Given the description of an element on the screen output the (x, y) to click on. 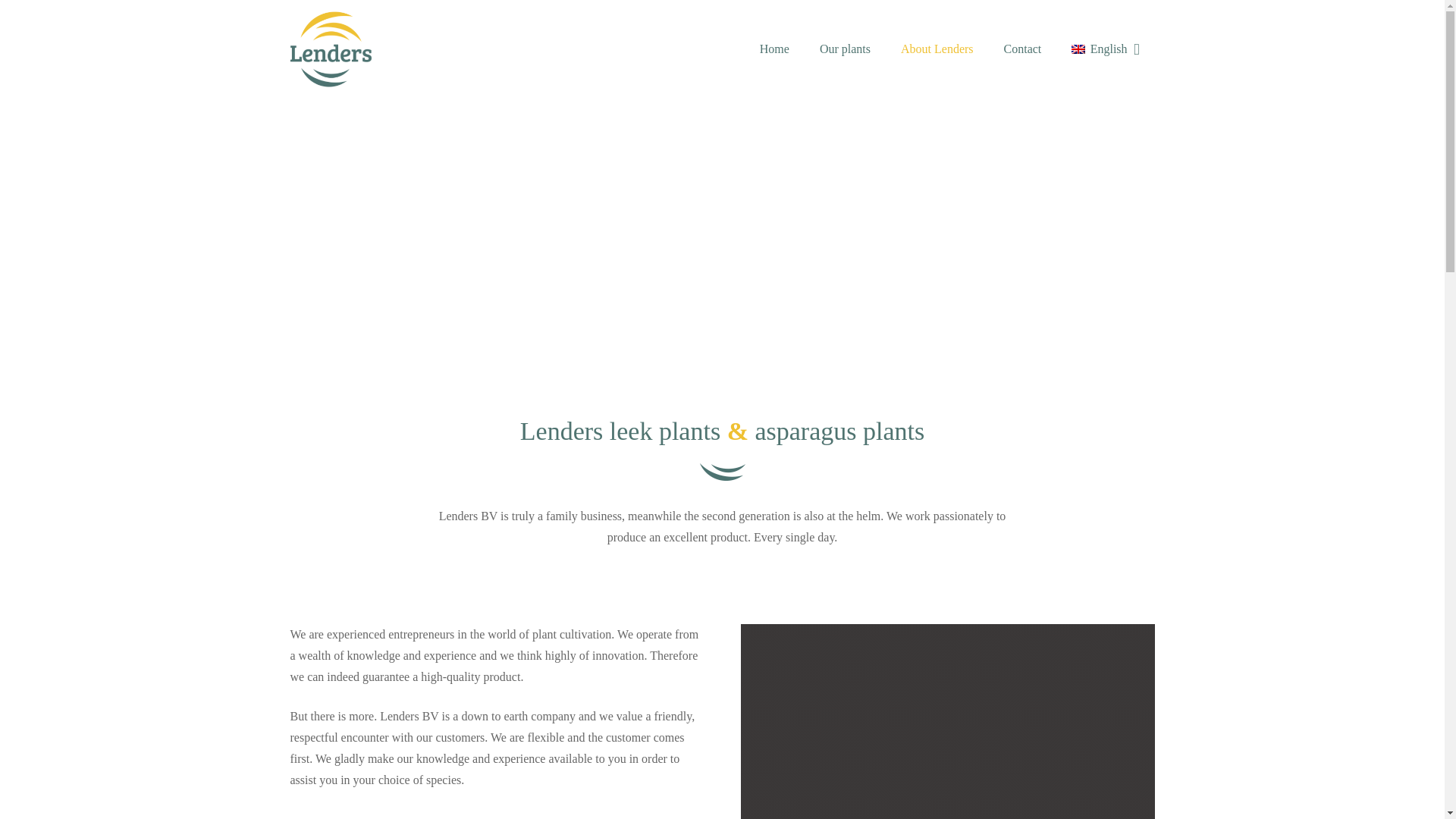
Home (774, 48)
Contact (1022, 48)
About Lenders (936, 48)
English (1105, 48)
English (1105, 48)
Our plants (845, 48)
